Given the description of an element on the screen output the (x, y) to click on. 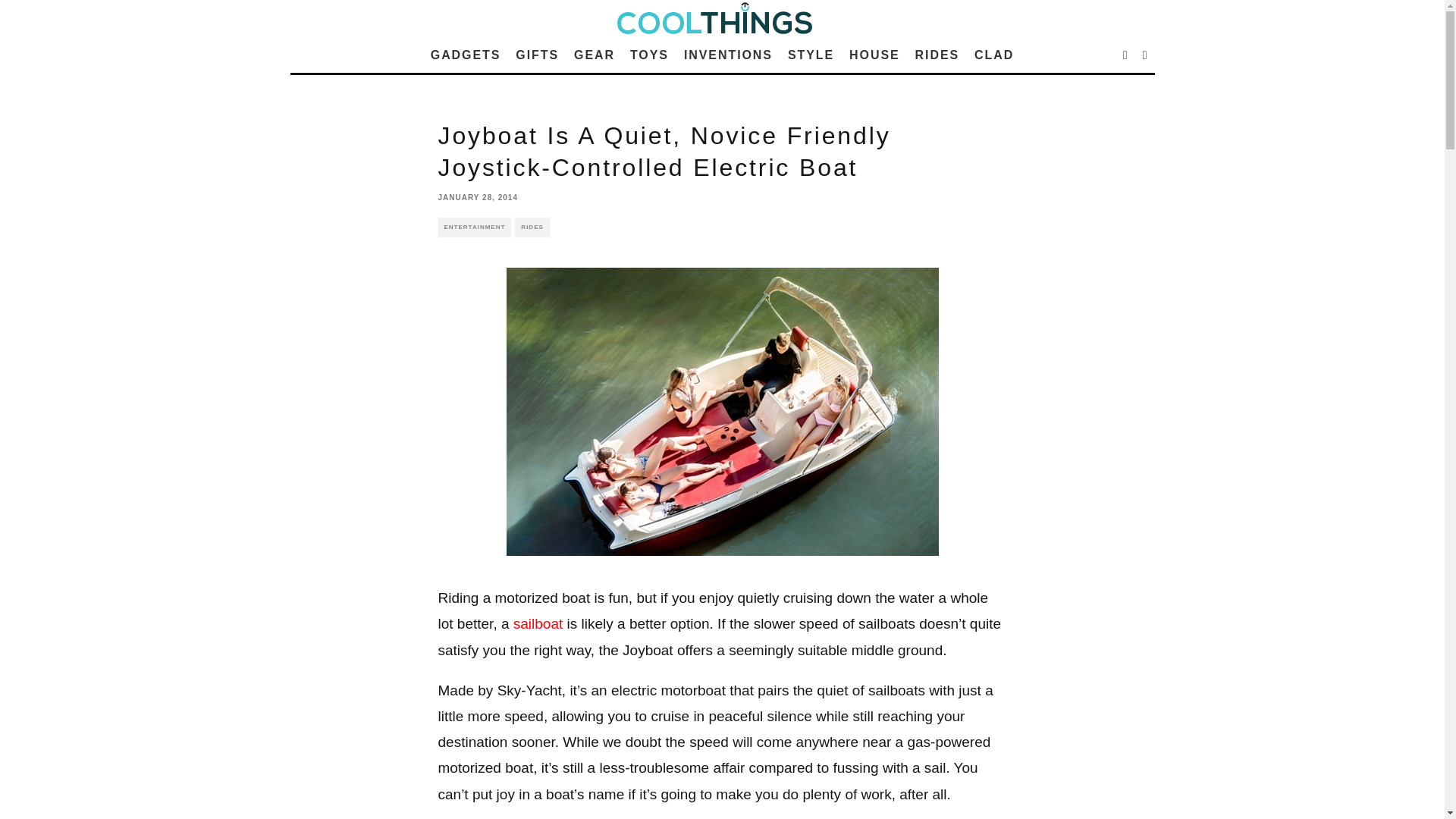
STYLE (810, 54)
GIFTS (537, 54)
GADGETS (465, 54)
GEAR (594, 54)
TOYS (650, 54)
INVENTIONS (728, 54)
